Given the description of an element on the screen output the (x, y) to click on. 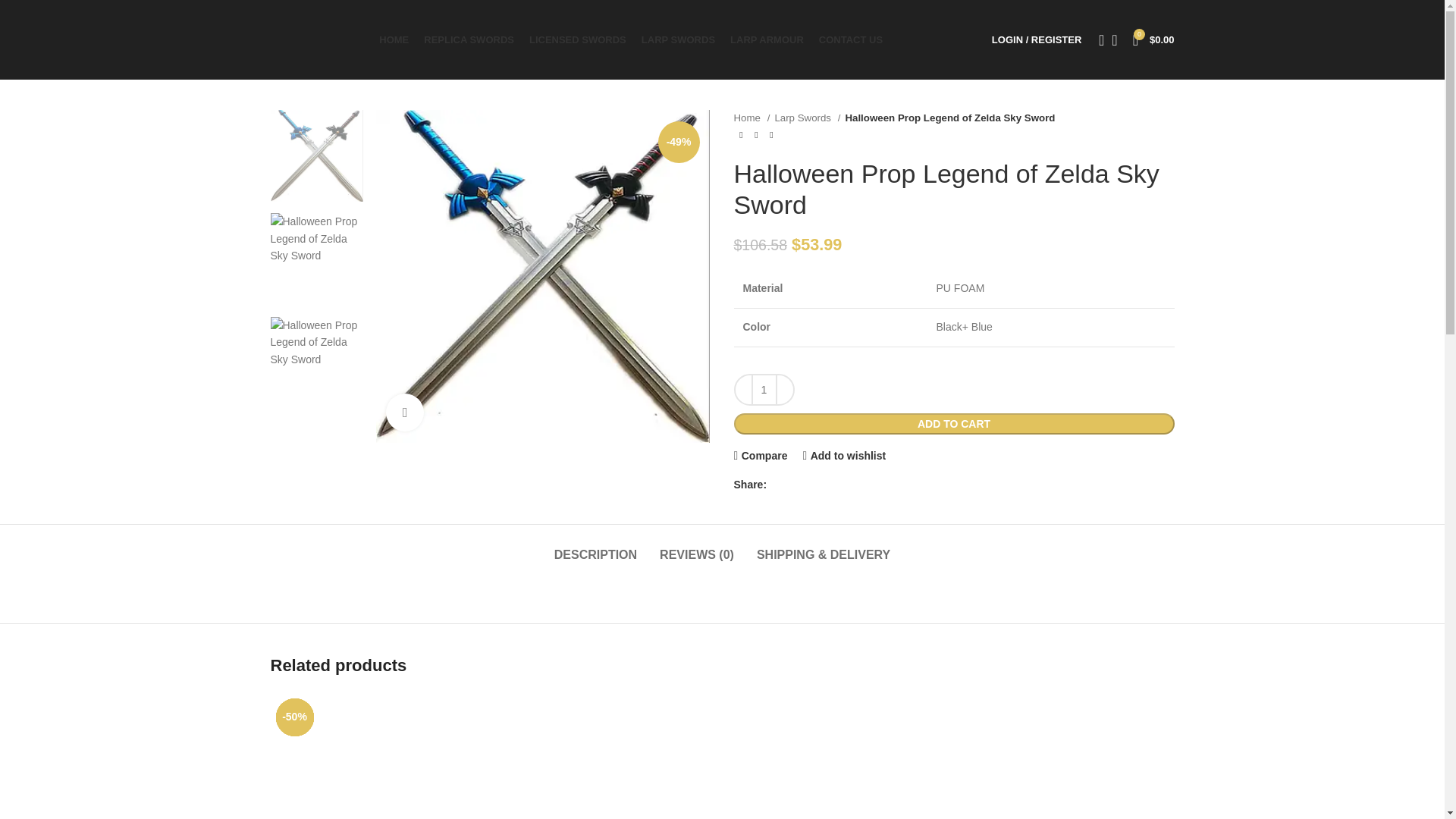
DESCRIPTION (595, 547)
1 (763, 389)
Halloween Prop Legend of Zelda Sky Sword (542, 276)
Qty (763, 389)
ADD TO CART (953, 423)
LARP SWORDS (678, 39)
- (742, 389)
CONTACT US (850, 39)
REPLICA SWORDS (468, 39)
HOME (393, 39)
Search (1096, 39)
Add to wishlist (843, 455)
Shopping cart (1153, 39)
Larp Swords (807, 117)
Compare (760, 455)
